Given the description of an element on the screen output the (x, y) to click on. 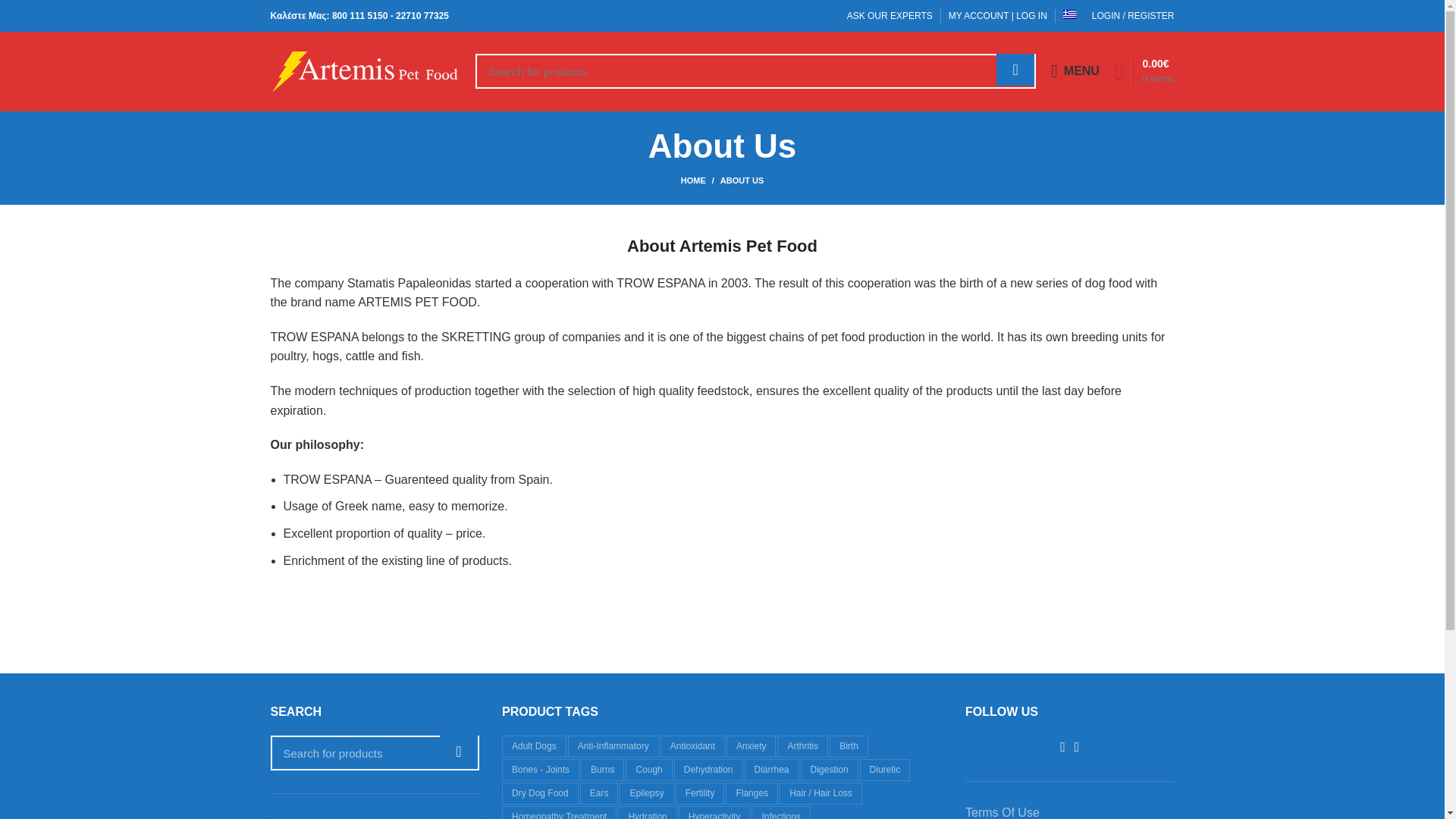
Search for products (754, 71)
Adult Dogs (534, 746)
Dehydration (708, 770)
Shopping cart (1144, 71)
Anti-Inflammatory (613, 746)
My account (1133, 15)
Bones - Joints (540, 770)
Arthritis (802, 746)
Ears (598, 793)
Search for products (374, 752)
Fertility (700, 793)
Diuretic (885, 770)
Anxiety (751, 746)
ASK OUR EXPERTS (890, 15)
Antioxidant (693, 746)
